Given the description of an element on the screen output the (x, y) to click on. 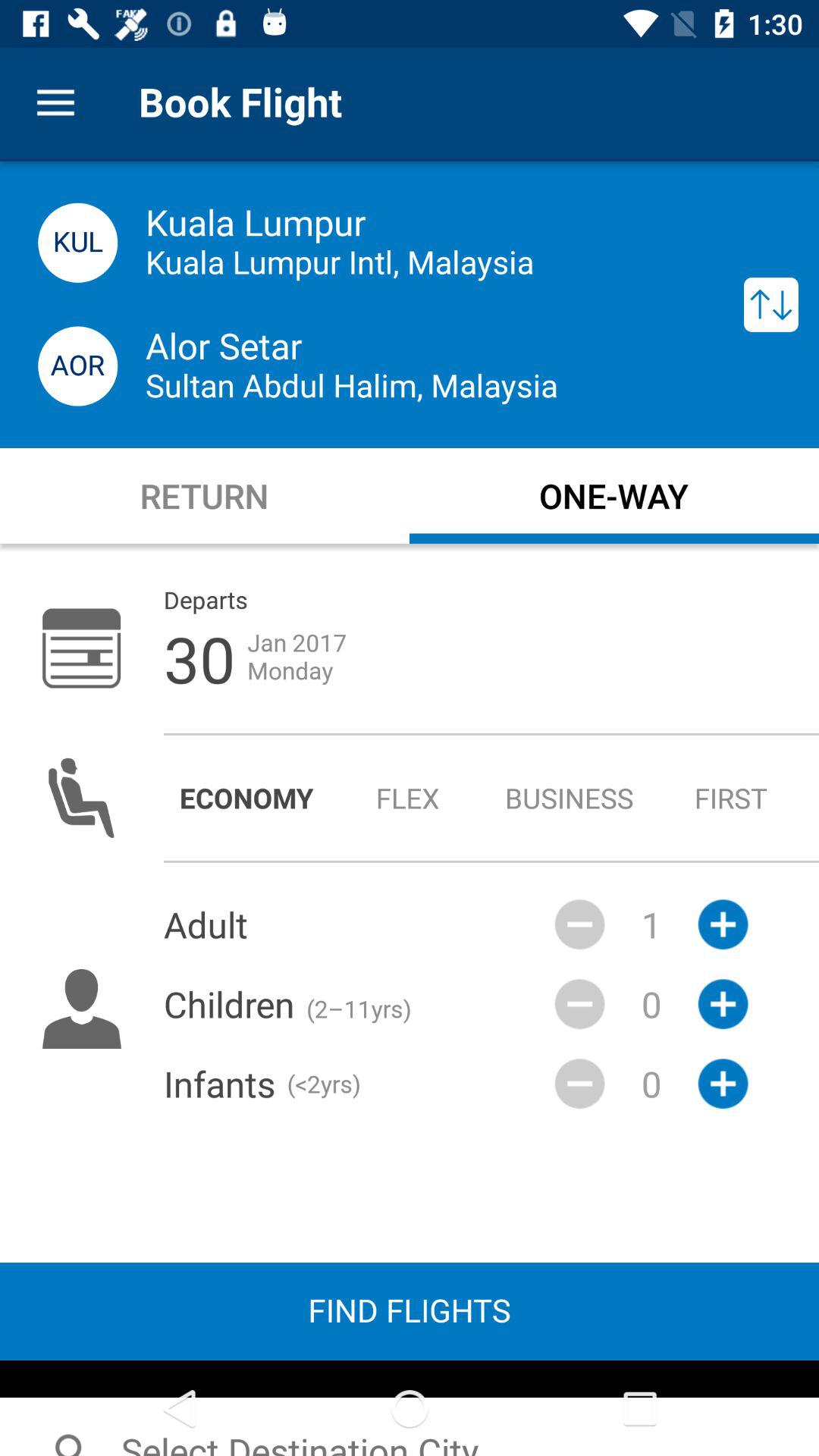
turn on icon to the left of first item (569, 797)
